Given the description of an element on the screen output the (x, y) to click on. 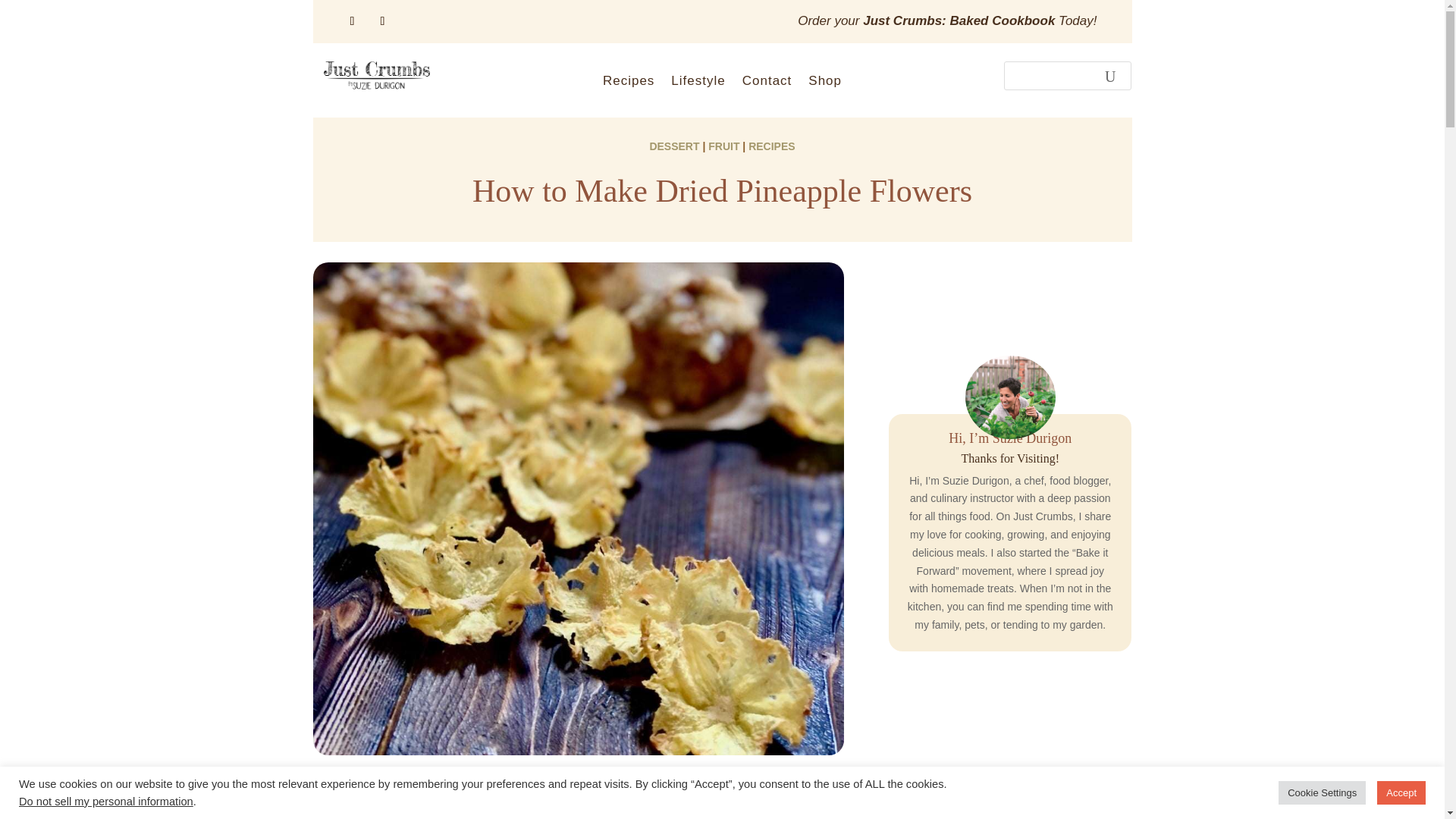
Search (1110, 75)
Search (1110, 75)
Lifestyle (698, 84)
RECIPES (771, 146)
FRUIT (723, 146)
DESSERT (673, 146)
Shop (824, 84)
Search (1110, 75)
logoJC (376, 75)
Follow on Instagram (381, 21)
